Given the description of an element on the screen output the (x, y) to click on. 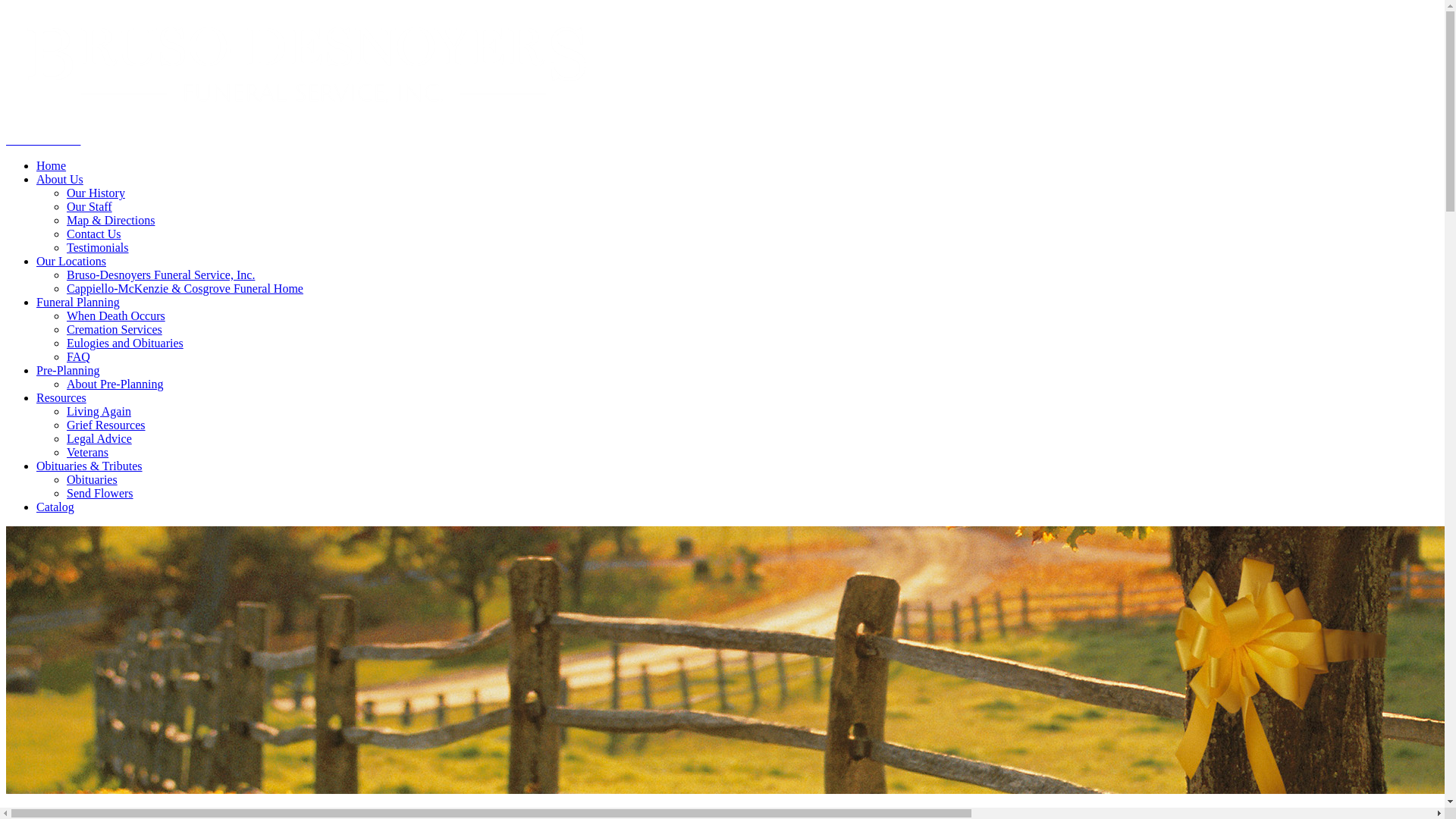
Our Locations (71, 260)
Testimonials (97, 246)
When Death Occurs (115, 315)
Eulogies and Obituaries (124, 342)
Our Staff (89, 205)
Bruso-Desnoyers Funeral Service, Inc. (160, 274)
Legal Advice (99, 438)
About Us (59, 178)
Cremation Services (113, 328)
Catalog (55, 506)
Grief Resources (105, 424)
FAQ (78, 356)
Send Flowers (99, 492)
Contact Us (93, 233)
Home (50, 164)
